Given the description of an element on the screen output the (x, y) to click on. 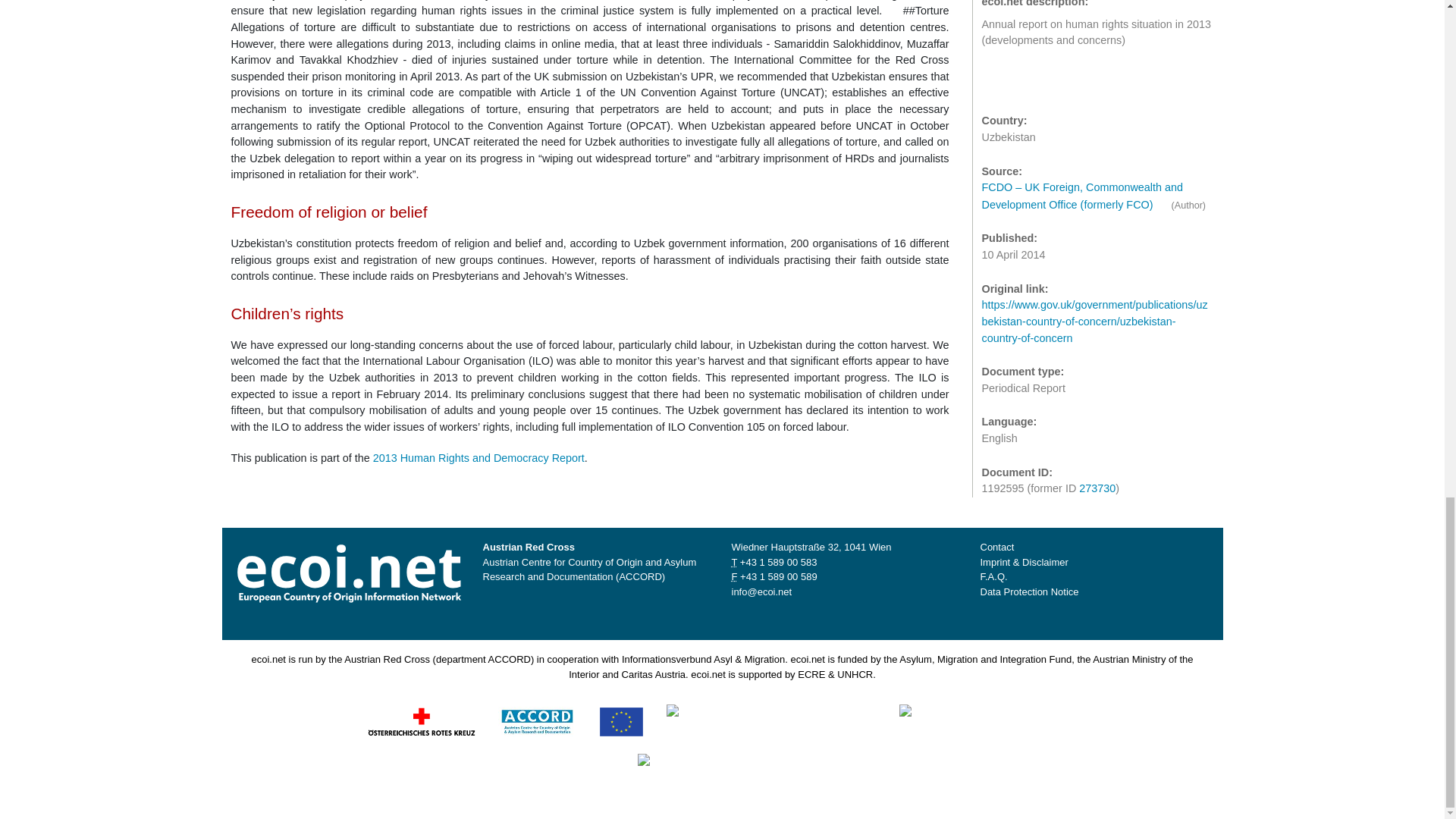
Telefax (777, 576)
UNHCR - The UN Refugee Agency (733, 769)
2013 Human Rights and Democracy Report (478, 458)
F.A.Q. (993, 576)
Telephone (777, 562)
Contact (996, 546)
Data Protection Notice (1028, 591)
Austrian Red Cross (421, 720)
